Given the description of an element on the screen output the (x, y) to click on. 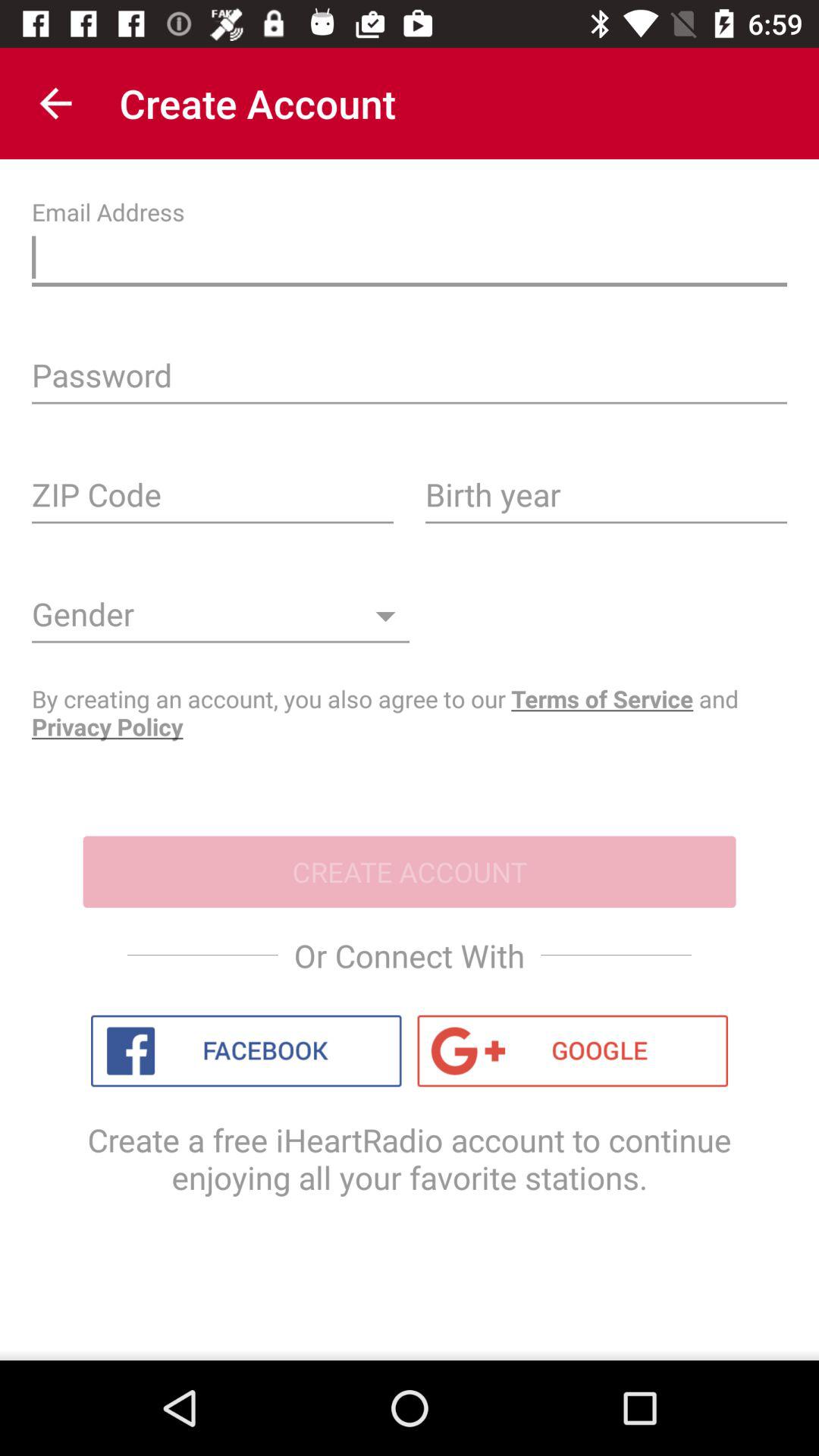
typing box (409, 261)
